Given the description of an element on the screen output the (x, y) to click on. 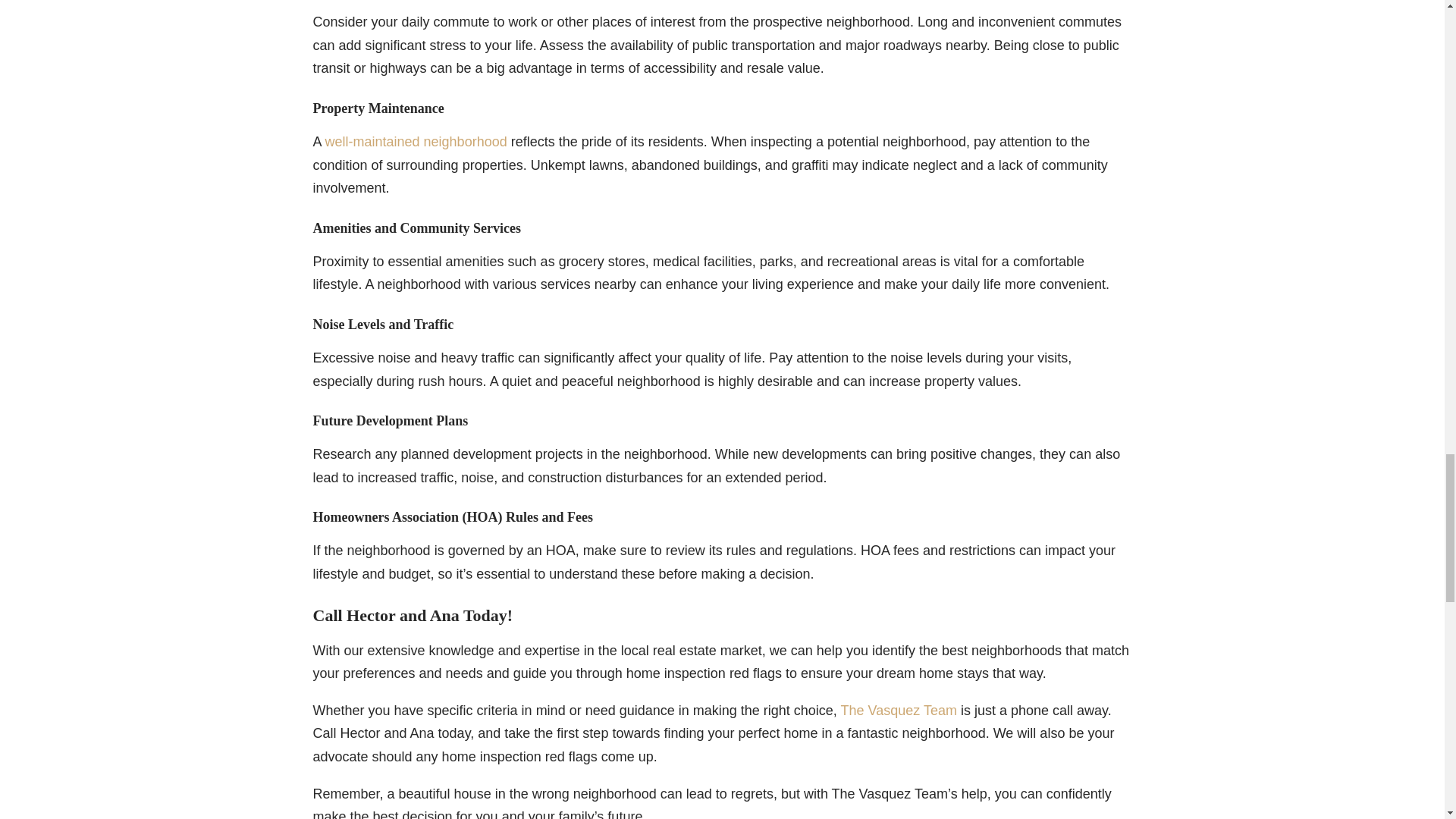
well-maintained neighborhood (415, 141)
The Vasquez Team (898, 710)
Call Hector and Ana Today! (412, 615)
